Given the description of an element on the screen output the (x, y) to click on. 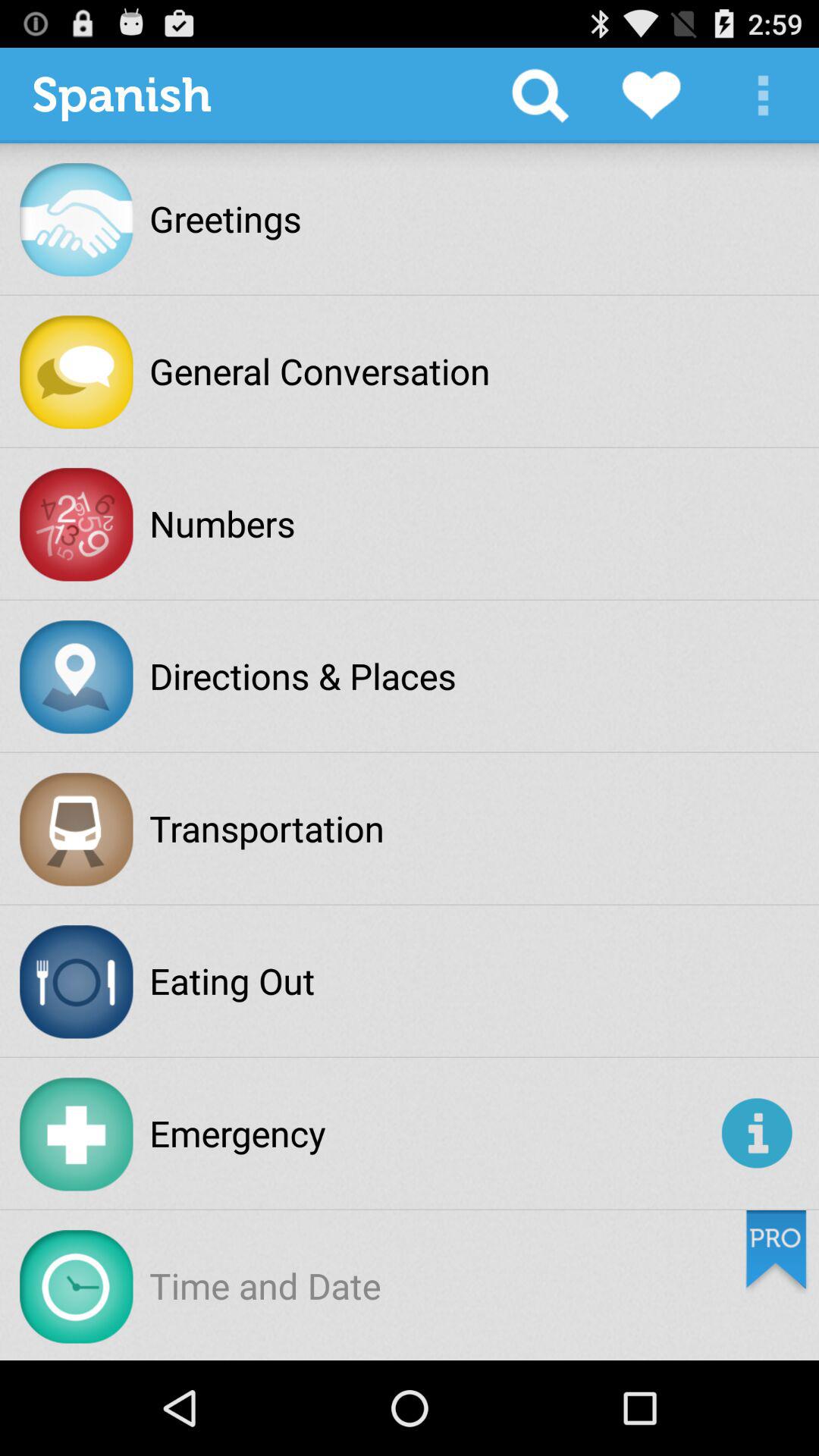
launch item below the spanish item (225, 218)
